Given the description of an element on the screen output the (x, y) to click on. 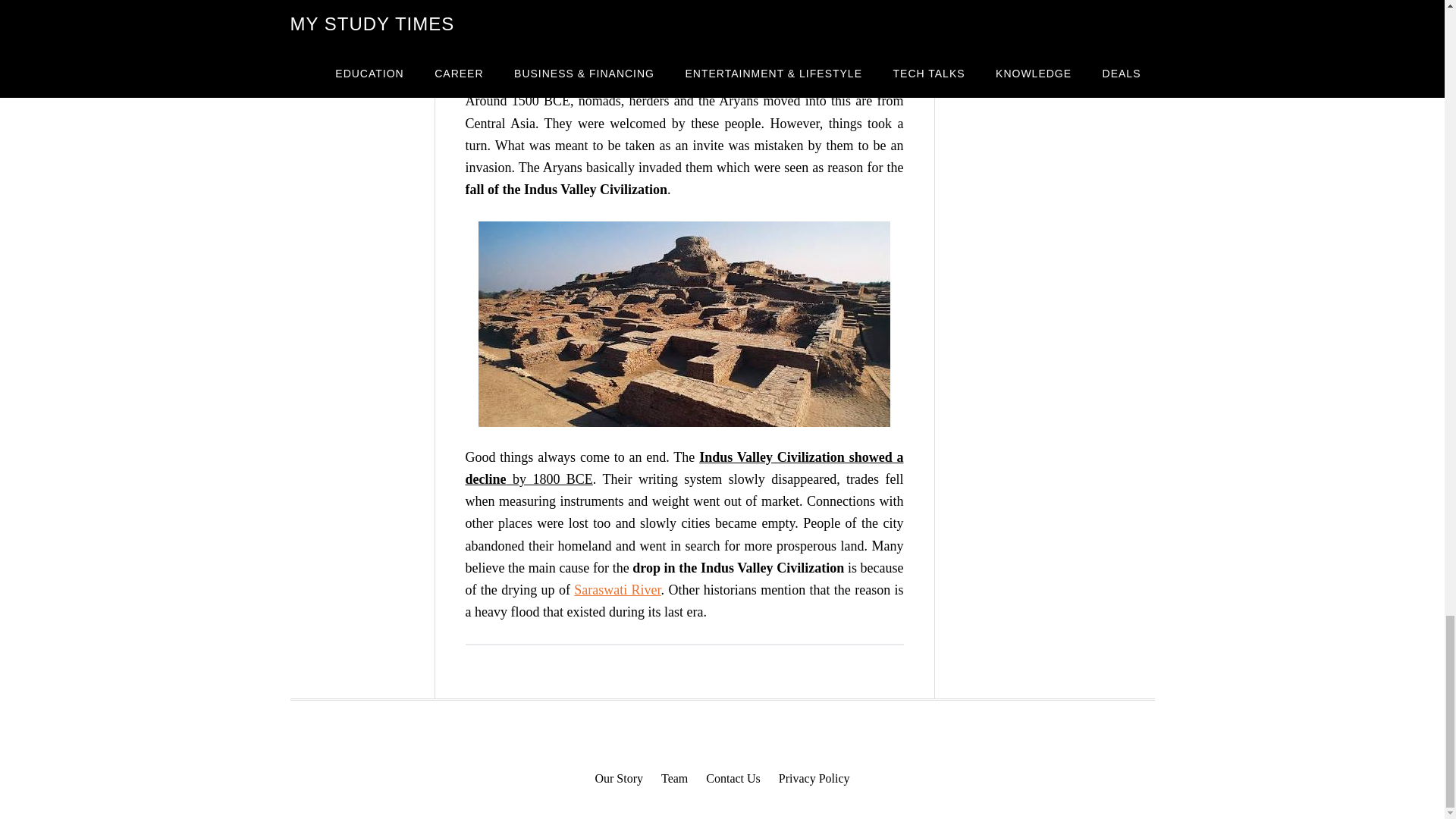
Indus Valley Civilization Essay, History, Article 5 (684, 323)
